Given the description of an element on the screen output the (x, y) to click on. 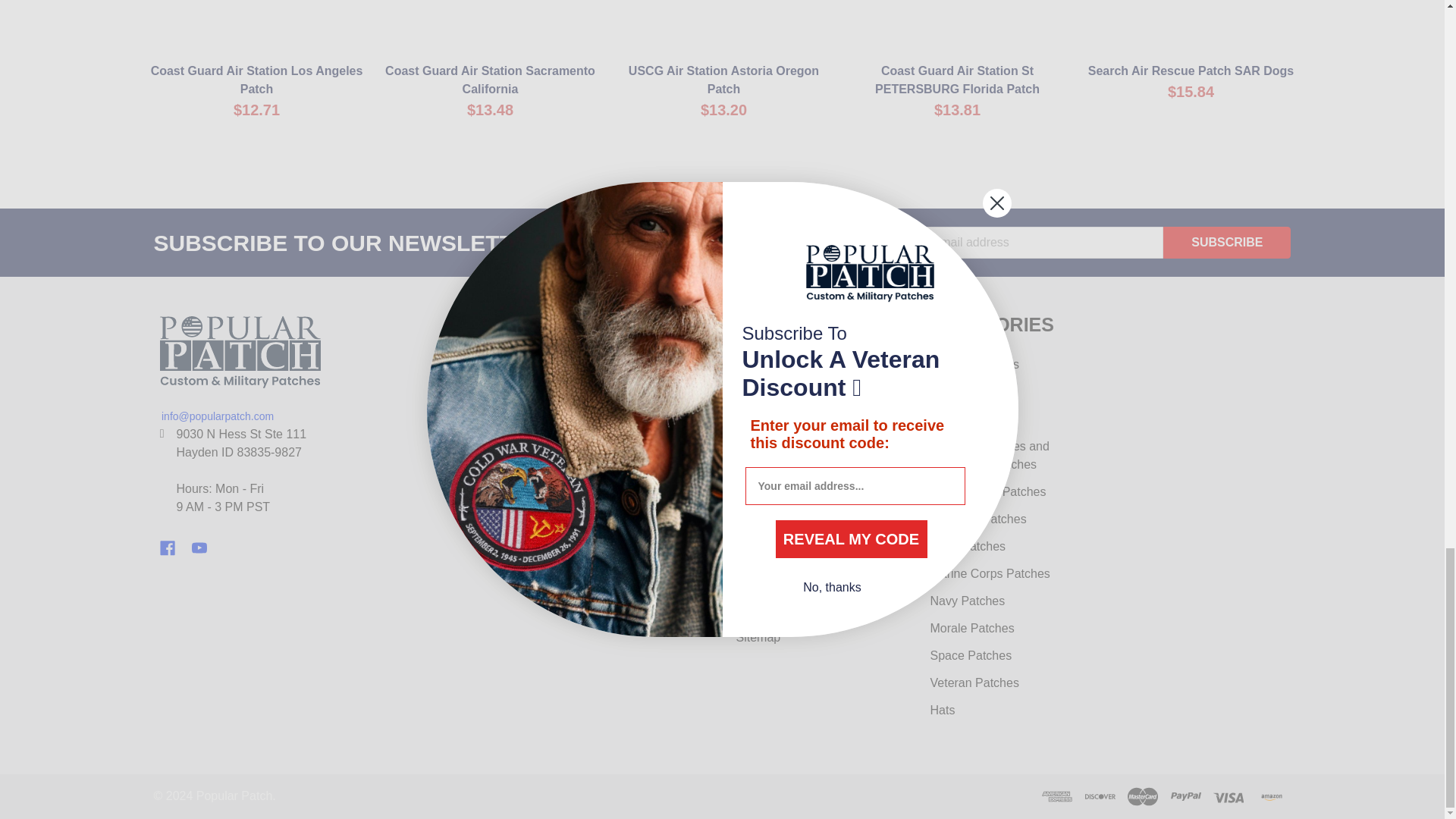
null (256, 26)
Subscribe (1226, 242)
